Given the description of an element on the screen output the (x, y) to click on. 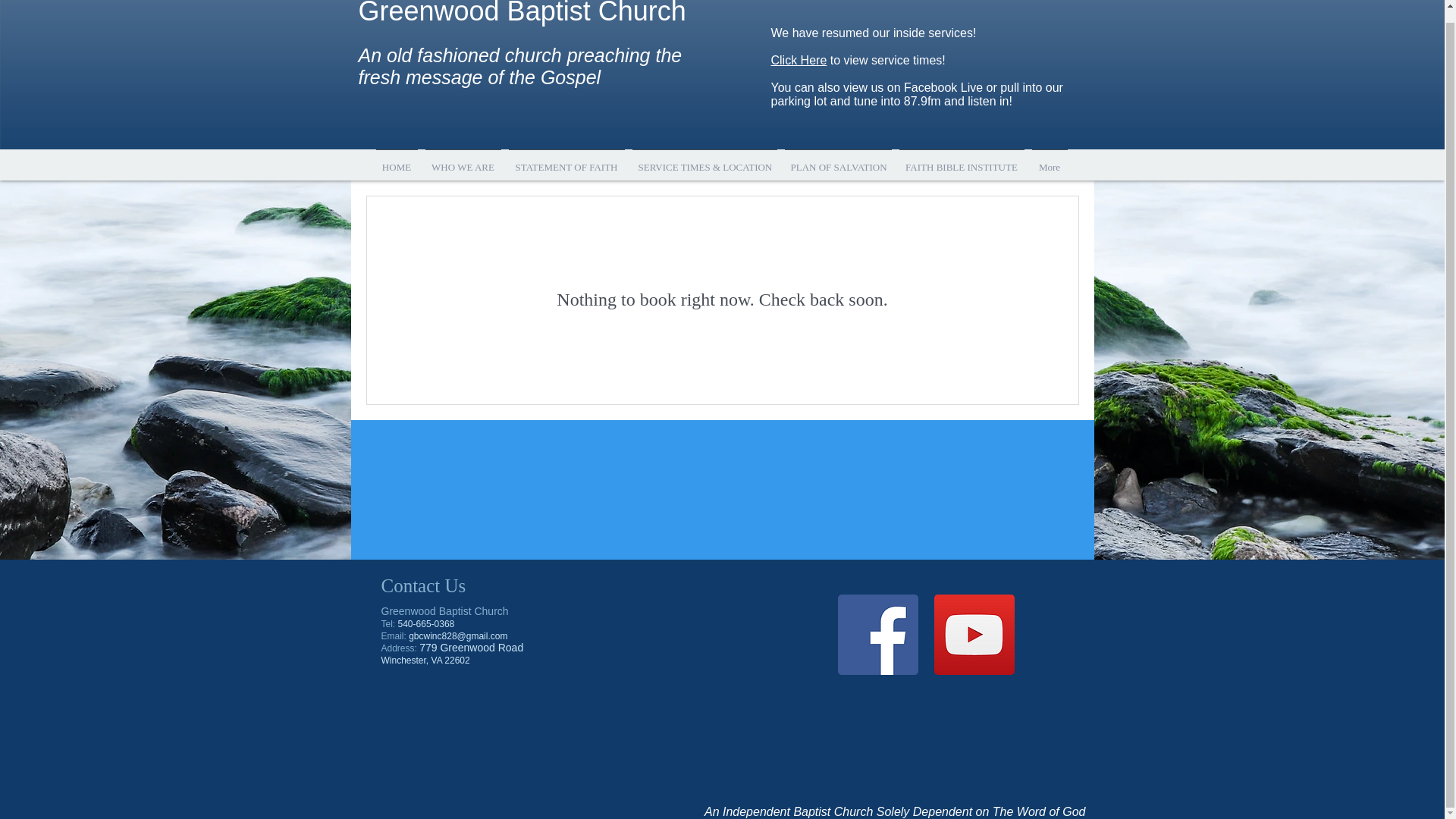
WHO WE ARE (463, 160)
STATEMENT OF FAITH (566, 160)
FAITH BIBLE INSTITUTE (961, 160)
PLAN OF SALVATION (837, 160)
HOME (395, 160)
Click Here (798, 60)
